Given the description of an element on the screen output the (x, y) to click on. 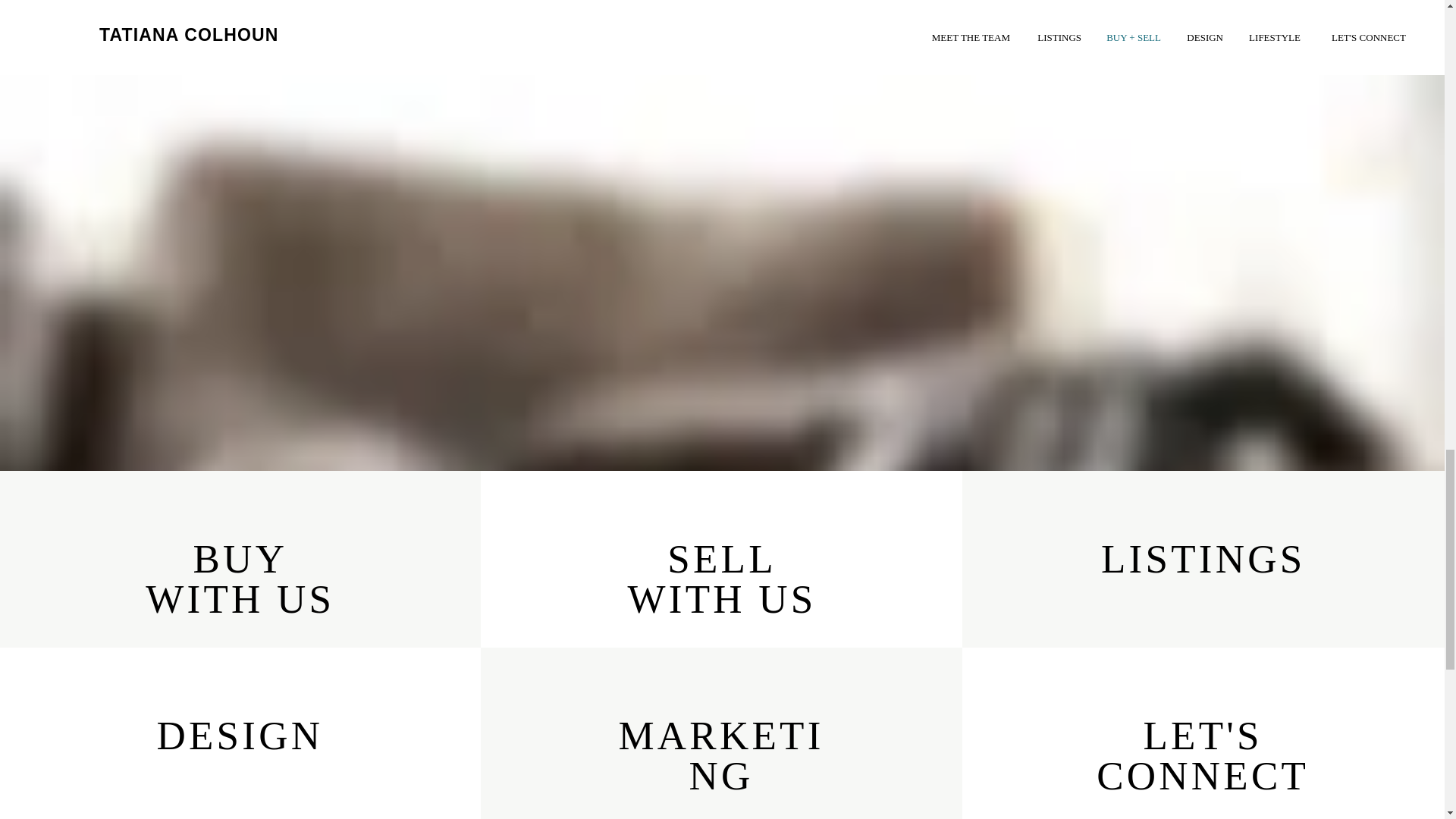
SELL WITH US (721, 578)
DESIGN (239, 735)
MARKETING (720, 755)
BUY WITH US (239, 578)
LISTINGS (1202, 558)
LET'S CONNECT (1202, 755)
